Given the description of an element on the screen output the (x, y) to click on. 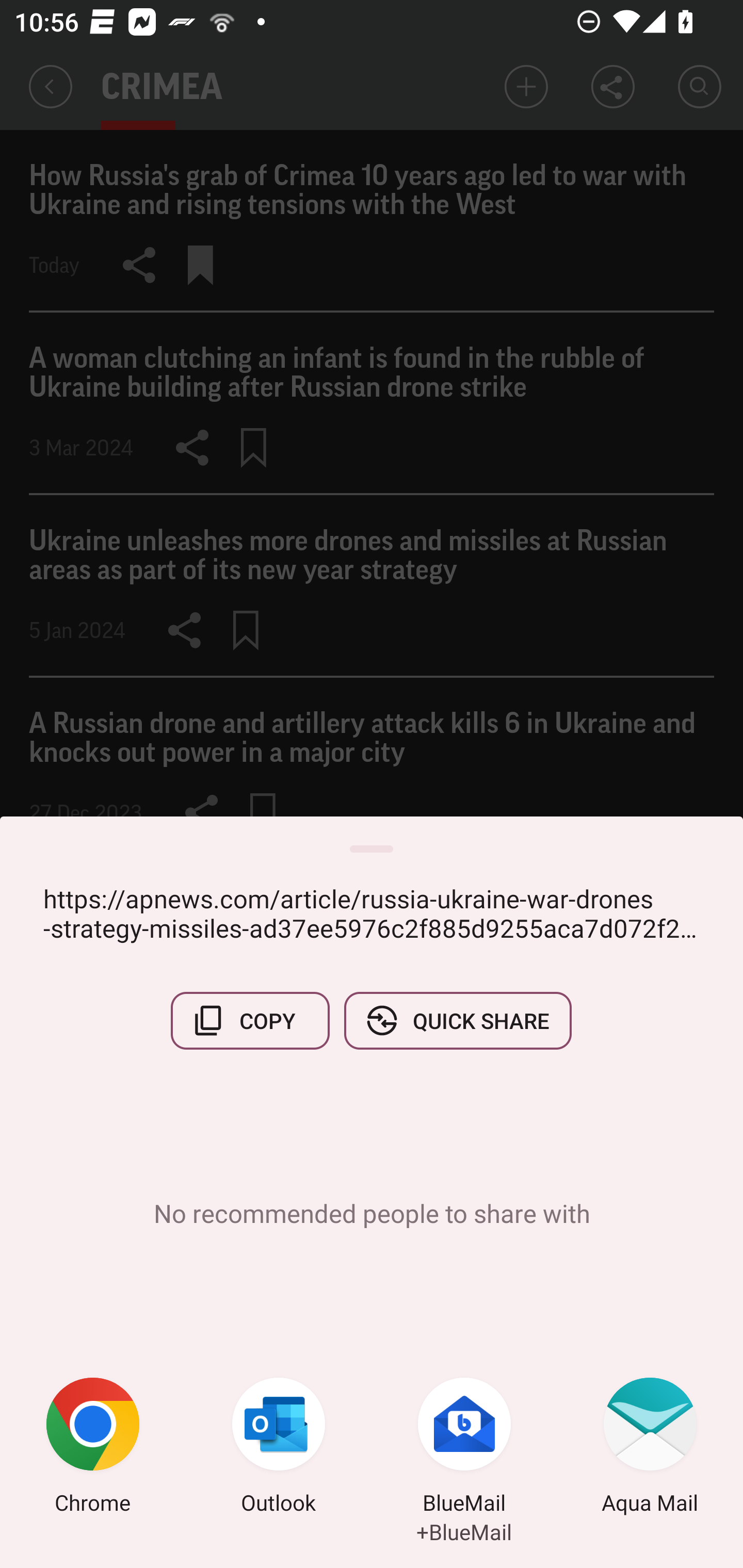
COPY (249, 1020)
QUICK SHARE (457, 1020)
Chrome (92, 1448)
Outlook (278, 1448)
BlueMail +BlueMail (464, 1448)
Aqua Mail (650, 1448)
